Given the description of an element on the screen output the (x, y) to click on. 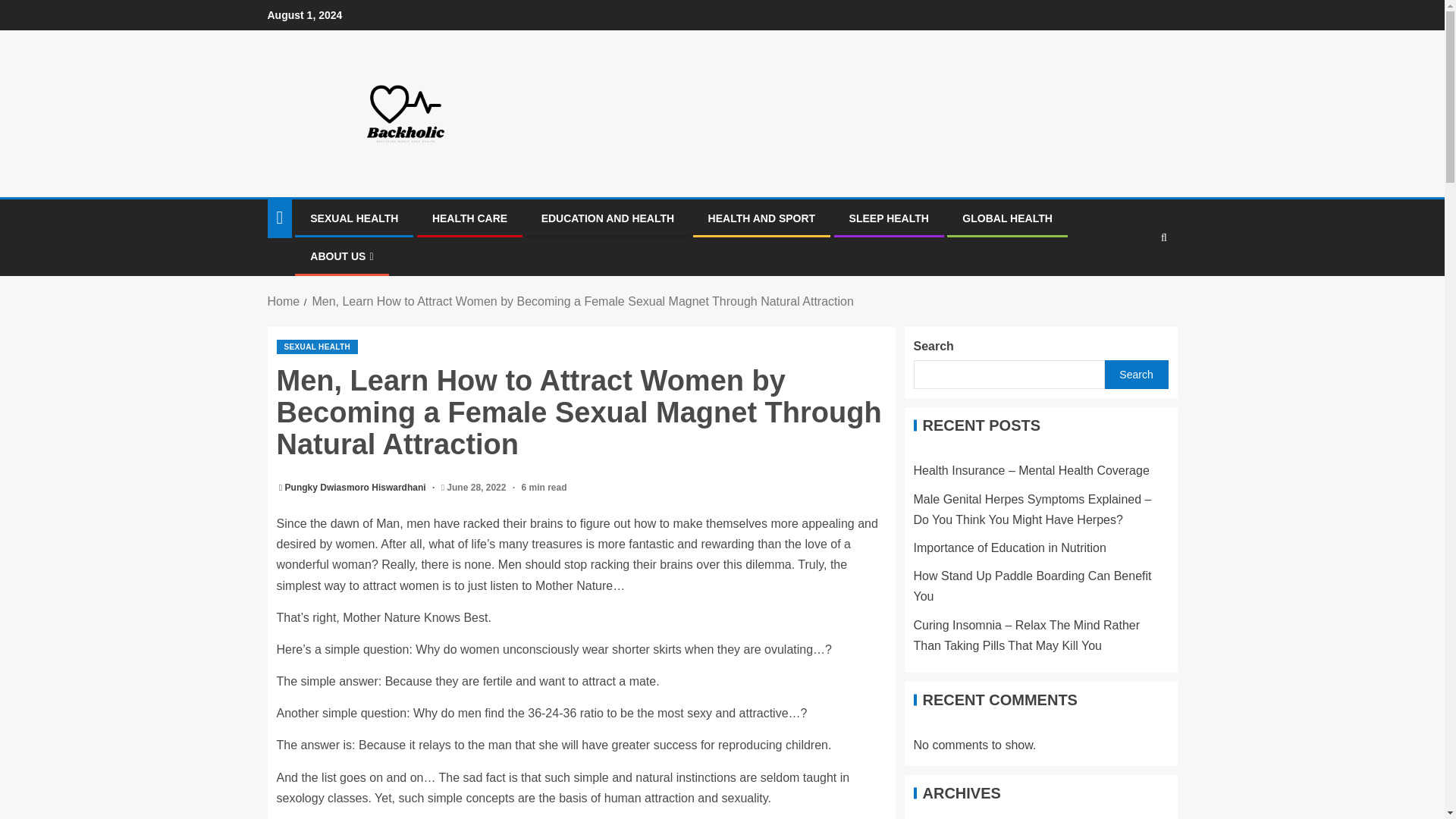
Search (1135, 374)
HEALTH CARE (469, 218)
SEXUAL HEALTH (353, 218)
GLOBAL HEALTH (1006, 218)
Pungky Dwiasmoro Hiswardhani (356, 487)
HEALTH AND SPORT (761, 218)
Importance of Education in Nutrition (1008, 547)
Home (282, 300)
EDUCATION AND HEALTH (608, 218)
SLEEP HEALTH (888, 218)
ABOUT US (341, 256)
Search (1133, 284)
How Stand Up Paddle Boarding Can Benefit You (1031, 585)
SEXUAL HEALTH (317, 346)
